Given the description of an element on the screen output the (x, y) to click on. 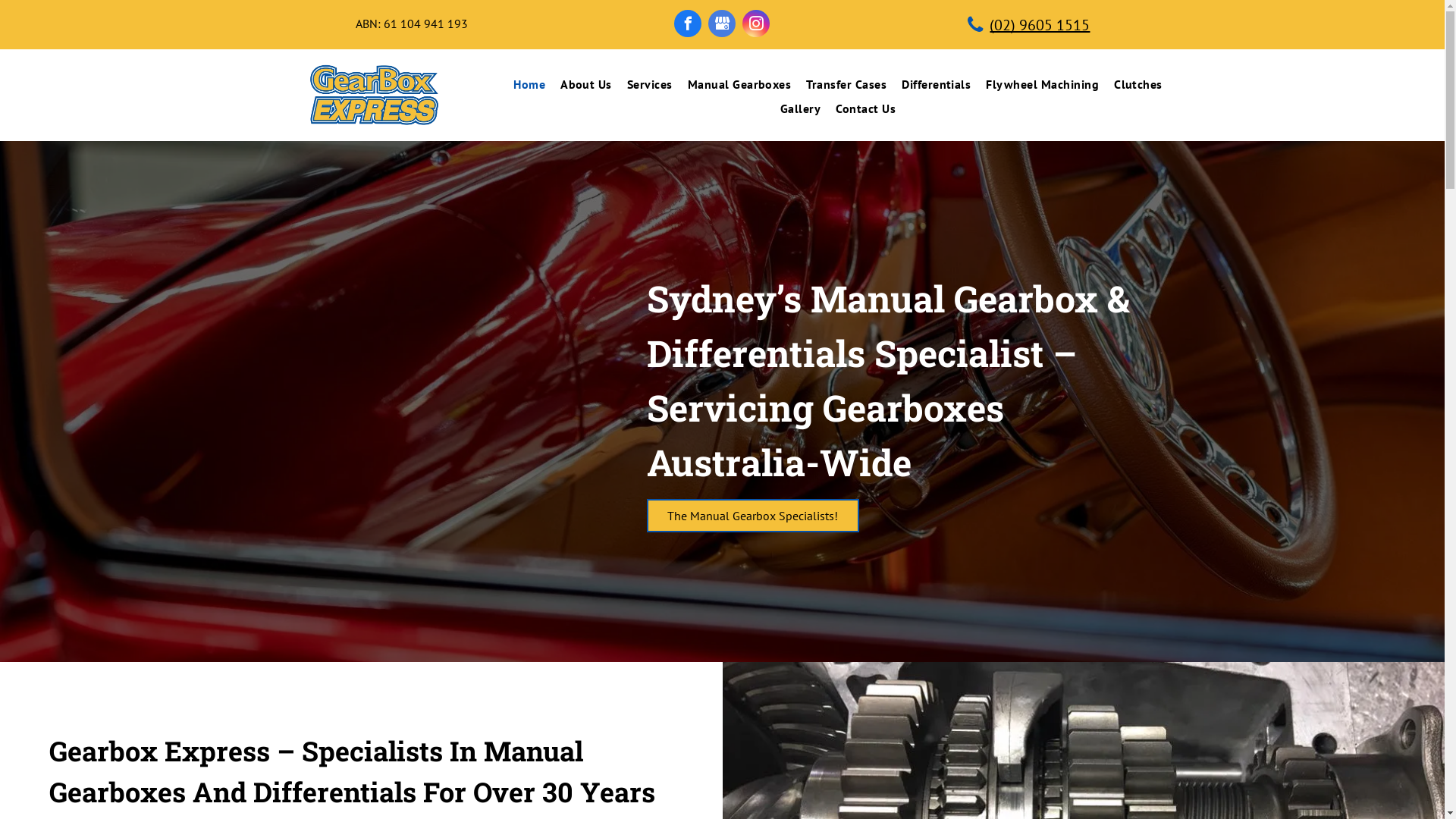
Contact Us Element type: text (865, 108)
Manual Gearboxes Element type: text (739, 84)
Differentials Element type: text (936, 84)
Services Element type: text (649, 84)
Home Element type: text (528, 84)
Gearbox Express Element type: hover (373, 94)
(02) 9605 1515 Element type: text (1031, 24)
About Us Element type: text (585, 84)
Transfer Cases Element type: text (846, 84)
The Manual Gearbox Specialists! Element type: text (752, 515)
Gallery Element type: text (800, 108)
Clutches Element type: text (1138, 84)
Flywheel Machining Element type: text (1042, 84)
